Given the description of an element on the screen output the (x, y) to click on. 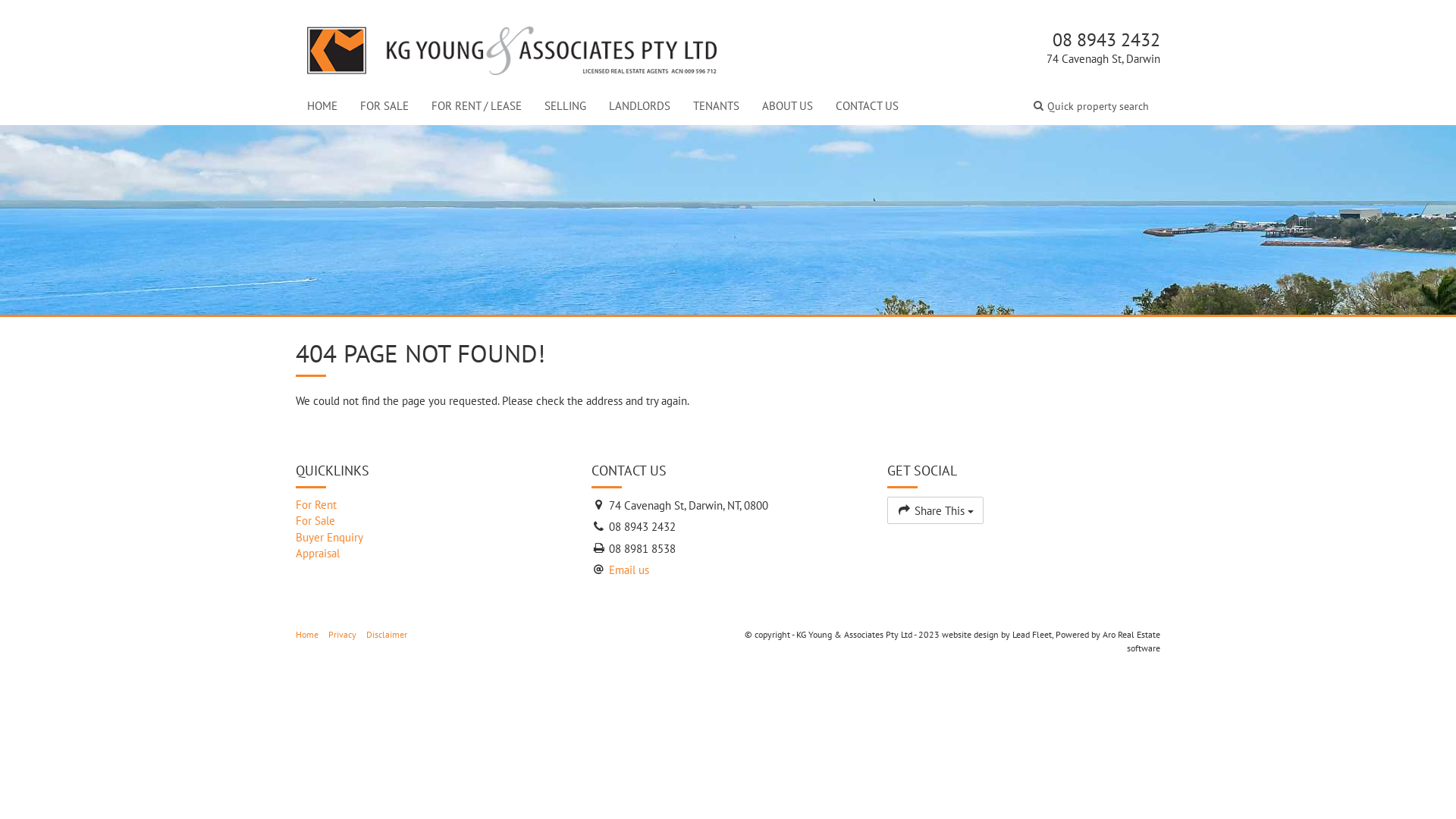
ABOUT US Element type: text (787, 105)
FOR RENT / LEASE Element type: text (476, 105)
Share This Element type: text (935, 510)
Lead Fleet Element type: text (1031, 634)
For Rent Element type: text (431, 504)
Quick property search Element type: text (1091, 105)
Appraisal Element type: text (431, 553)
Aro Real Estate software Element type: text (1131, 640)
SELLING Element type: text (565, 105)
LANDLORDS Element type: text (639, 105)
FOR SALE Element type: text (384, 105)
TENANTS Element type: text (715, 105)
CONTACT US Element type: text (867, 105)
Disclaimer Element type: text (386, 634)
HOME Element type: text (321, 105)
Email us Element type: text (628, 569)
Privacy Element type: text (342, 634)
KG Young & Associates Pty Ltd Element type: hover (511, 47)
For Sale Element type: text (431, 520)
Buyer Enquiry Element type: text (431, 537)
Home Element type: text (306, 634)
